Given the description of an element on the screen output the (x, y) to click on. 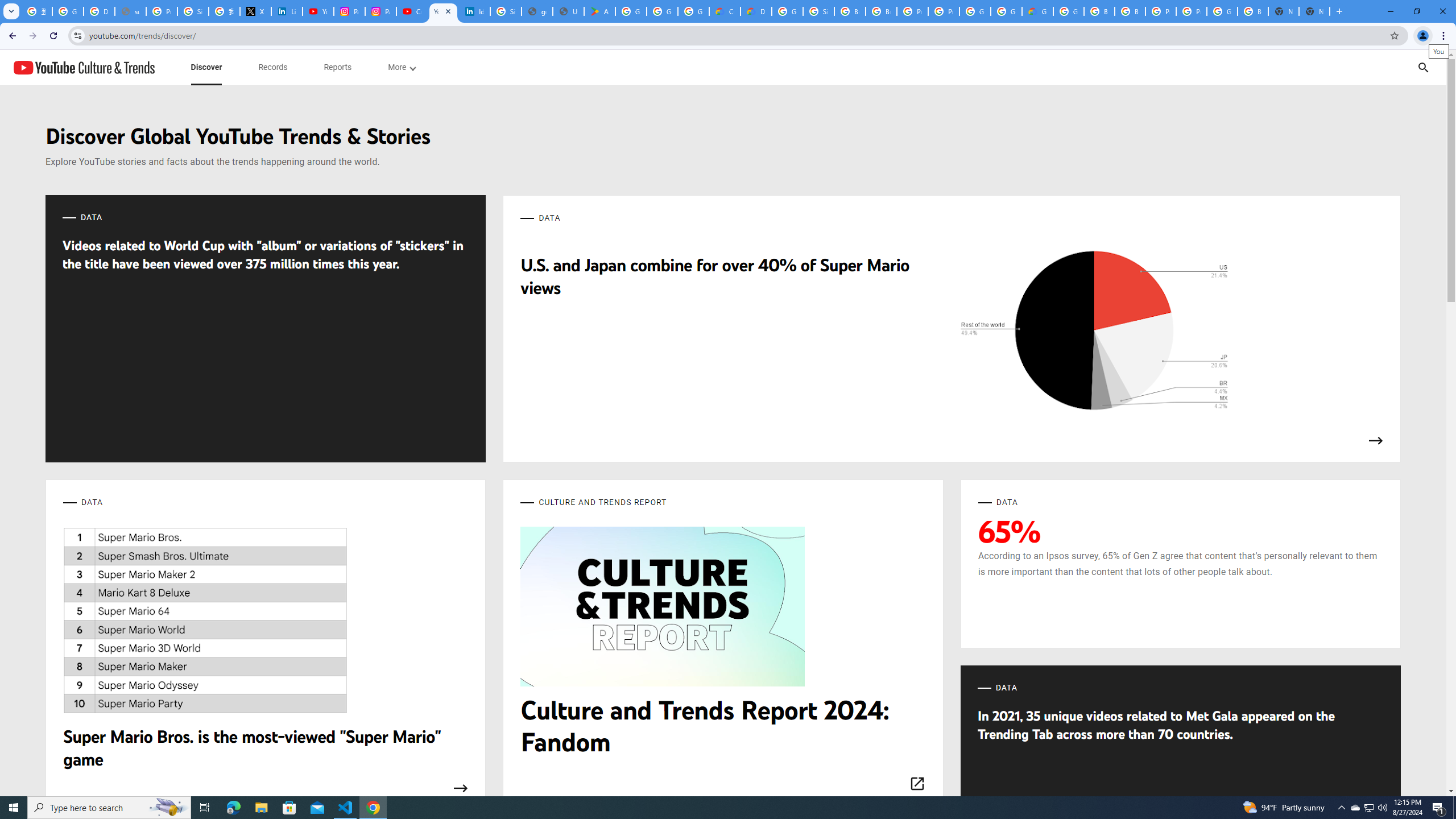
subnav-Discover menupopup (205, 67)
Google Cloud Platform (1222, 11)
Privacy Help Center - Policies Help (161, 11)
Google Cloud Platform (974, 11)
subnav-Reports menupopup (337, 67)
Browse Chrome as a guest - Computer - Google Chrome Help (849, 11)
Google Cloud Estimate Summary (1037, 11)
Sign in - Google Accounts (818, 11)
